Given the description of an element on the screen output the (x, y) to click on. 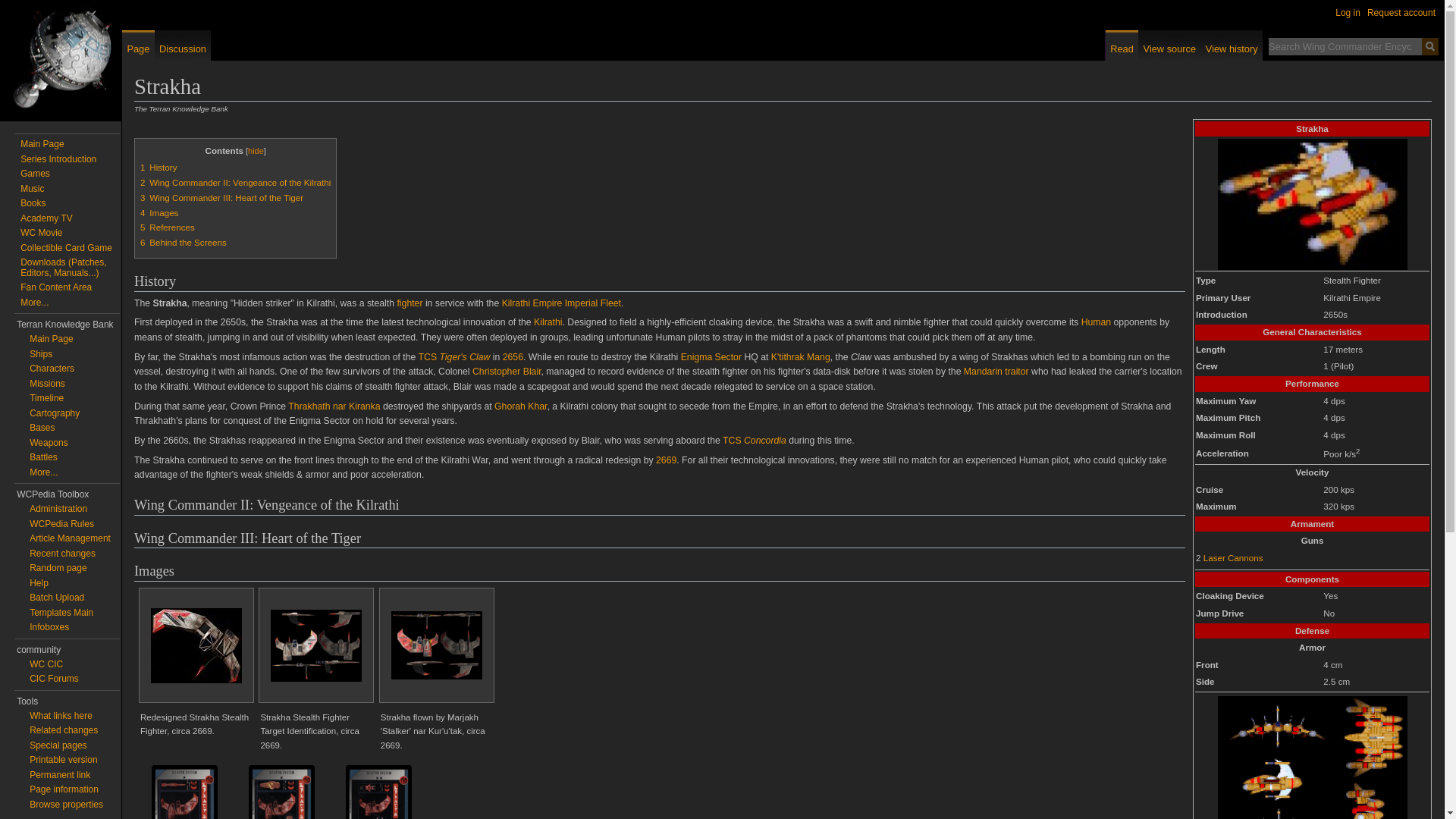
TCS Tiger's Claw (454, 357)
Christopher Blair (506, 371)
Kilrathi Empire (532, 303)
Society of Mandarins (983, 371)
Zachary Colson (1015, 371)
Thrakhath nar Kiranka (334, 406)
TCS Concordia (754, 439)
traitor (1015, 371)
Enigma Sector (711, 357)
Imperial Fleet (592, 303)
